Given the description of an element on the screen output the (x, y) to click on. 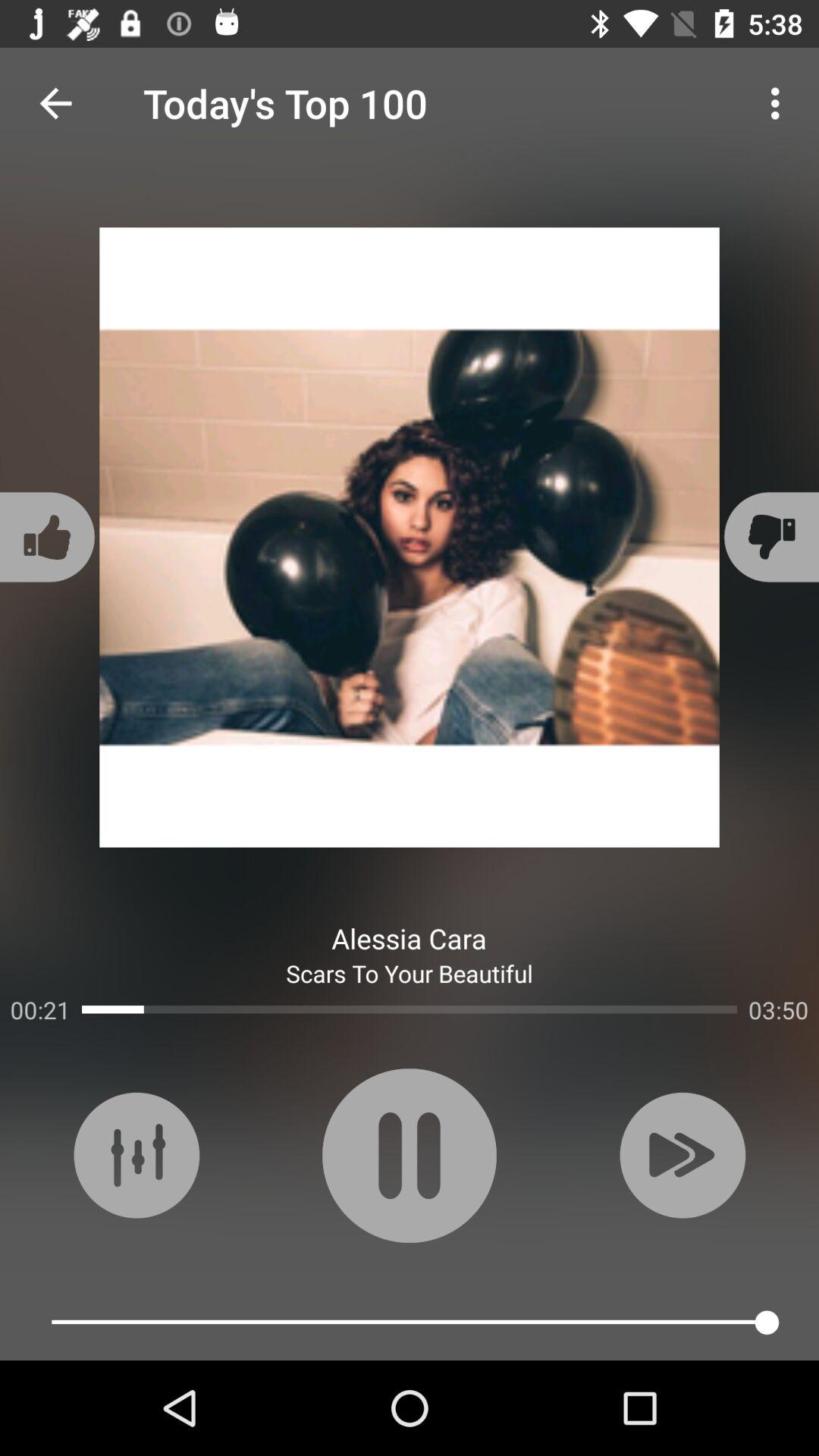
open icon at the top right corner (779, 103)
